Given the description of an element on the screen output the (x, y) to click on. 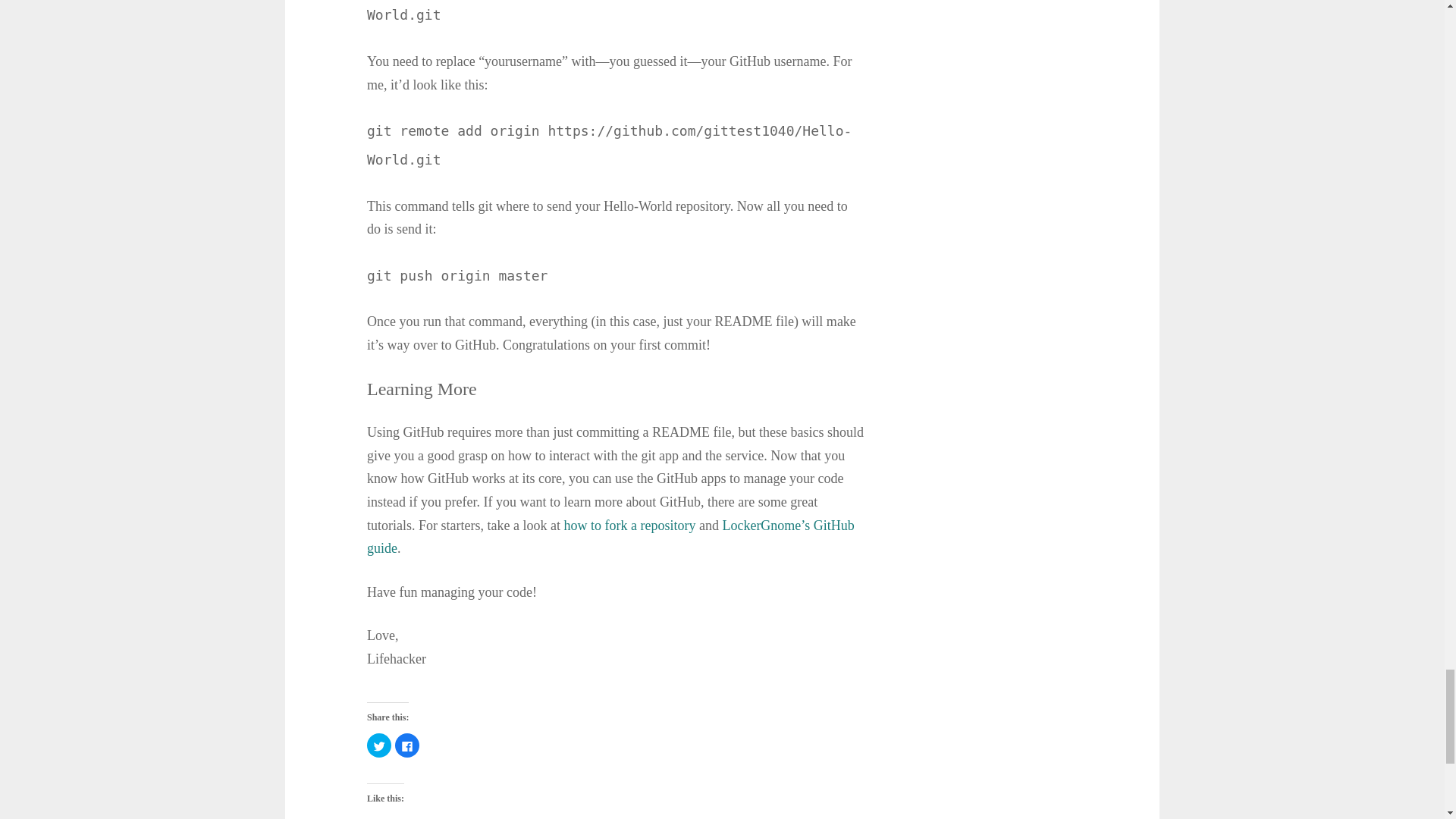
Click to share on Twitter (378, 745)
how to fork a repository (629, 525)
Click to share on Facebook (406, 745)
